Given the description of an element on the screen output the (x, y) to click on. 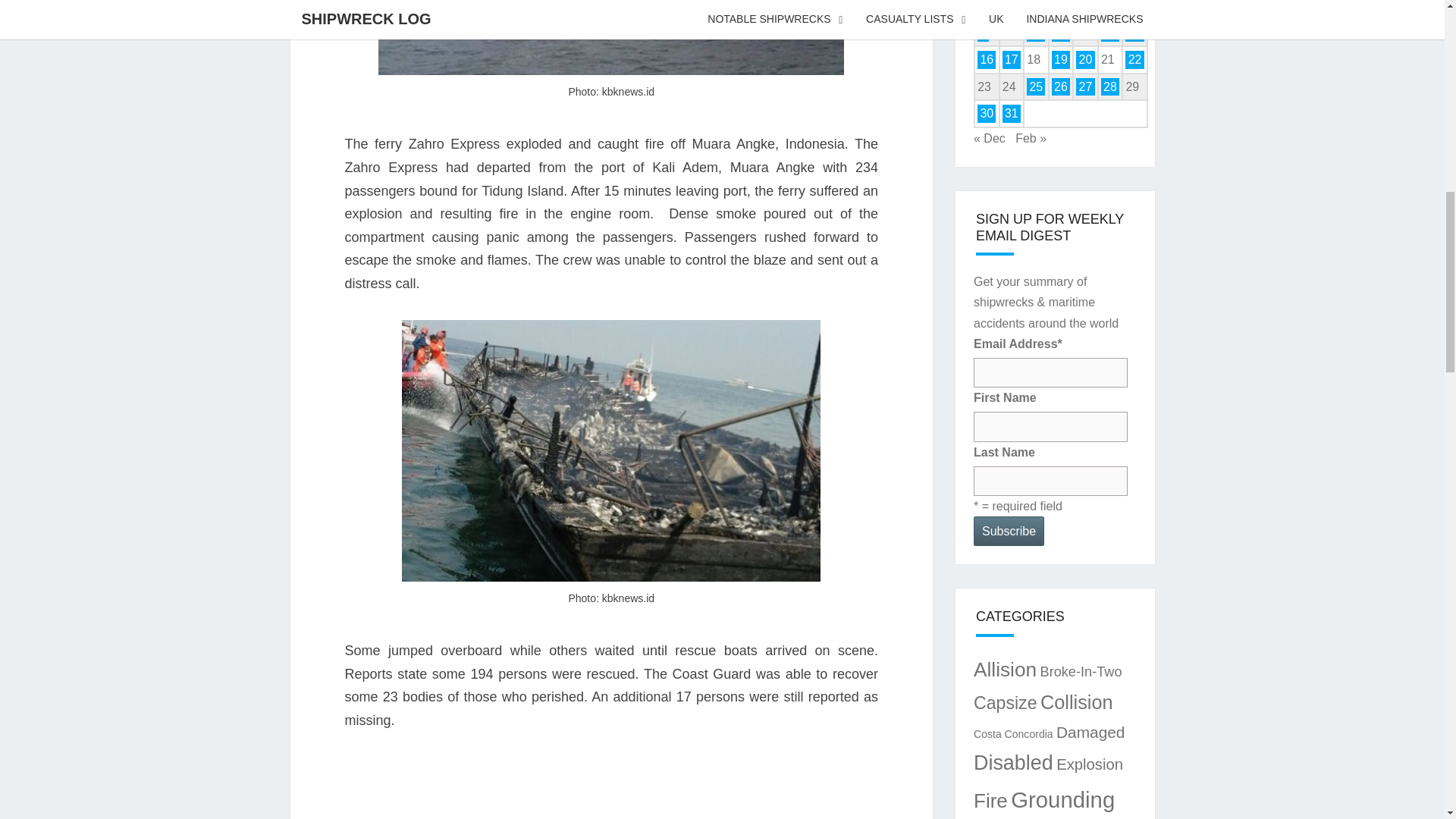
Subscribe (1008, 531)
